Given the description of an element on the screen output the (x, y) to click on. 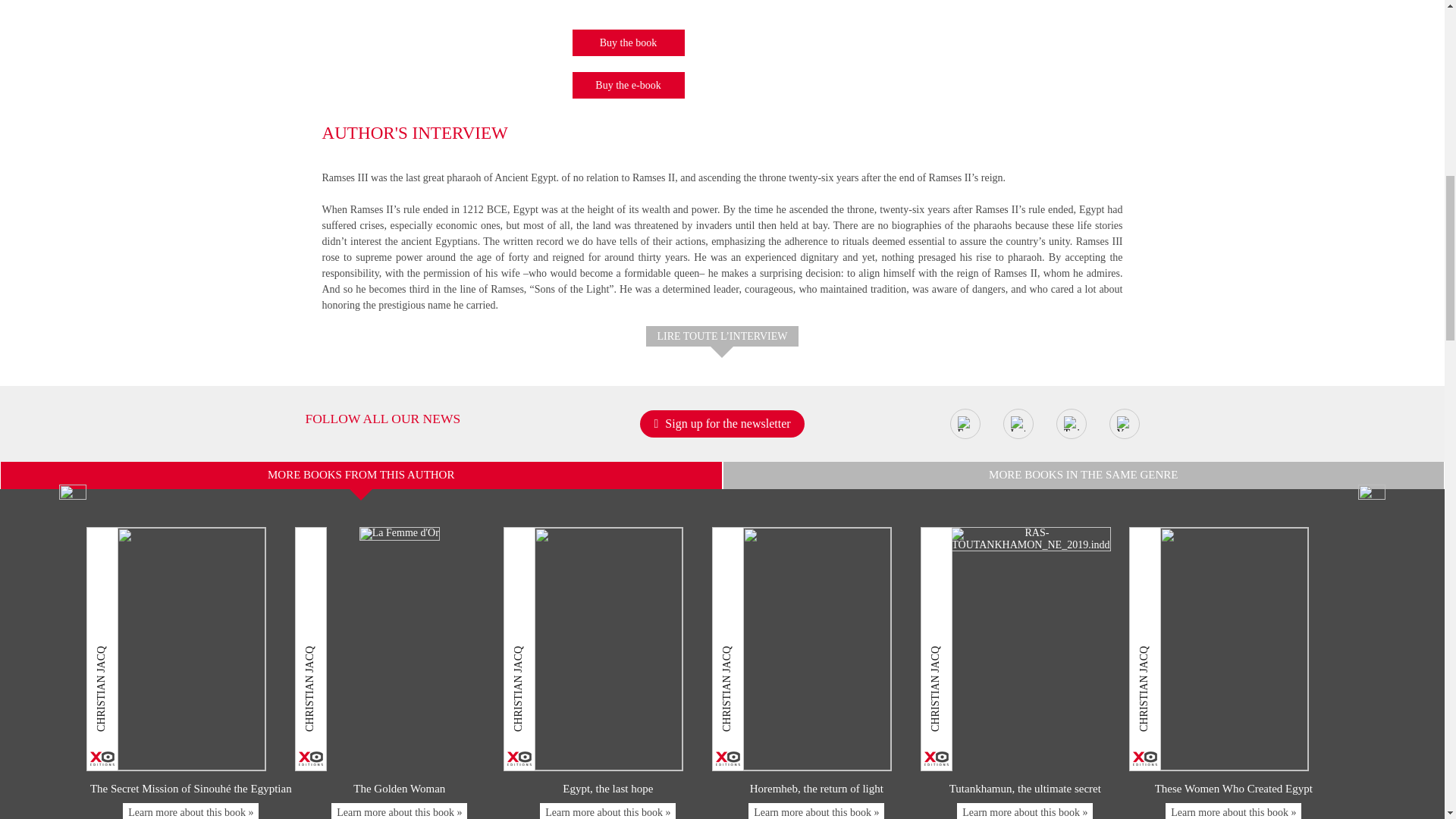
MORE BOOKS FROM THIS AUTHOR (361, 474)
Buy the e-book (628, 85)
Sign up for the newsletter (721, 423)
Buy the book (628, 42)
